Given the description of an element on the screen output the (x, y) to click on. 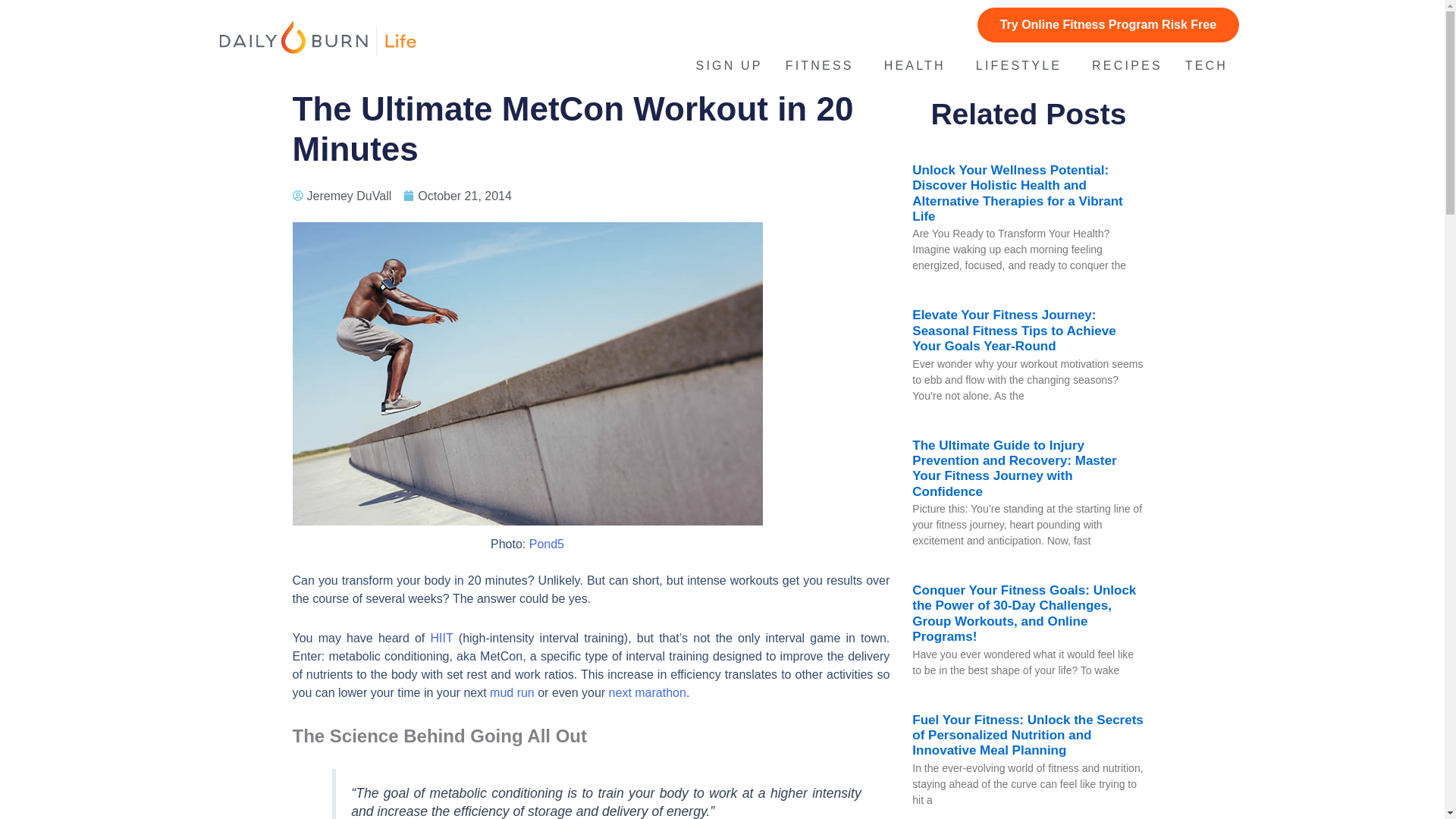
FITNESS (823, 65)
Try Online Fitness Program Risk Free (1107, 24)
SIGN UP (729, 65)
LIFESTYLE (1022, 65)
HEALTH (918, 65)
TECH (1210, 65)
RECIPES (1127, 65)
